Given the description of an element on the screen output the (x, y) to click on. 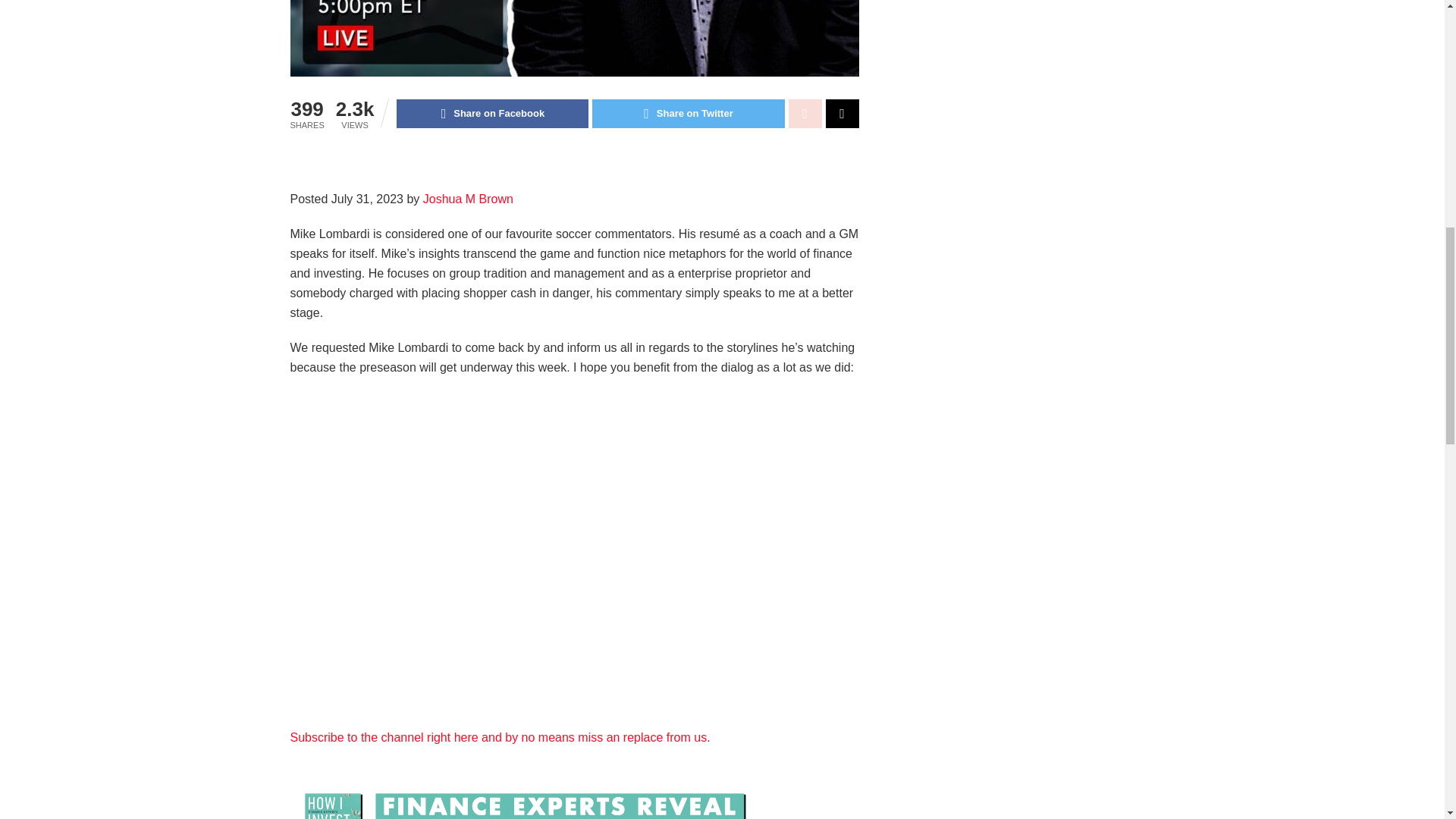
Share on Facebook (492, 113)
Posts by Joshua M Brown (468, 198)
